Given the description of an element on the screen output the (x, y) to click on. 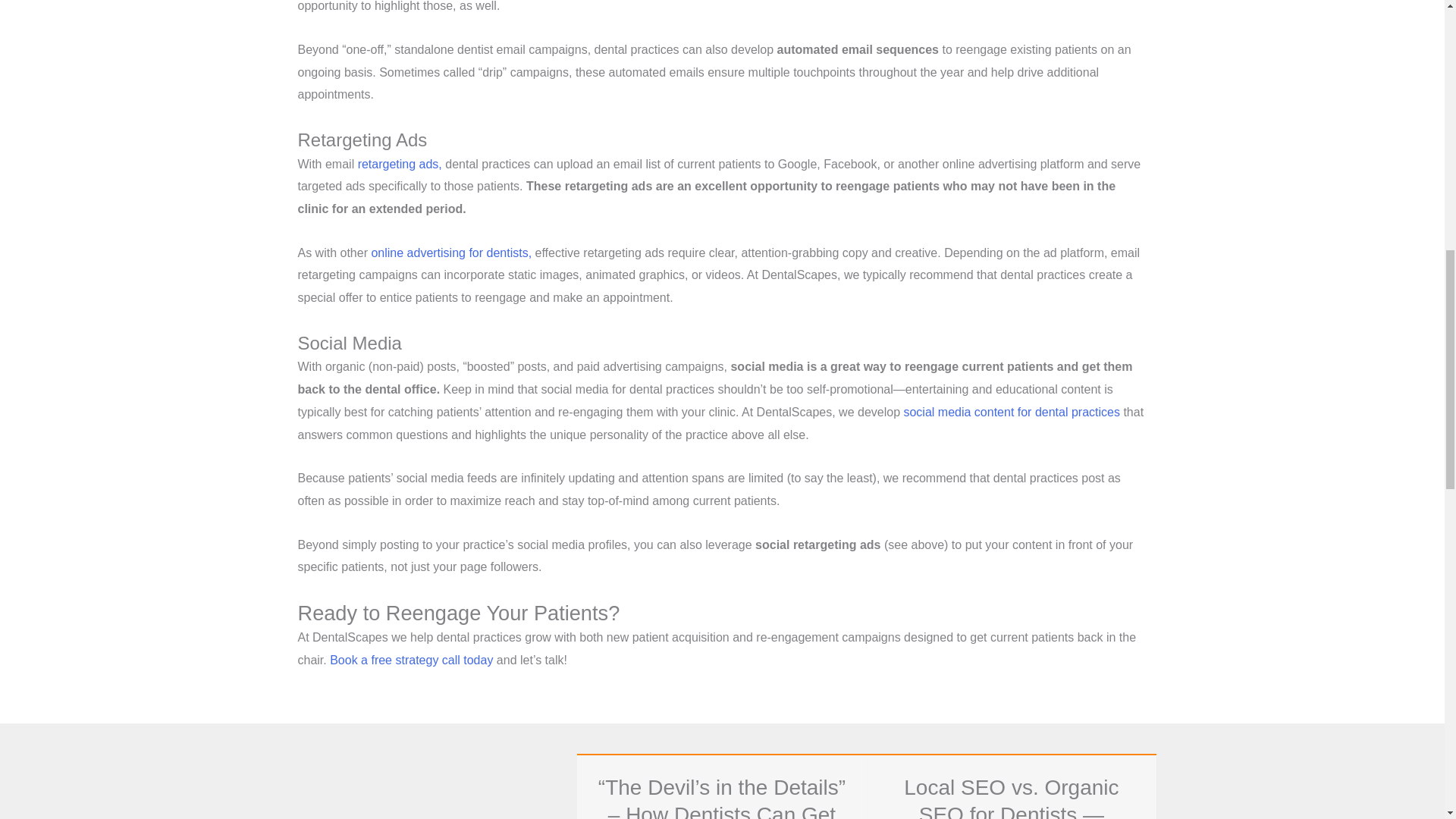
retargeting ads, (400, 164)
social media content for dental practices (1010, 411)
Book a free strategy call today (411, 659)
online advertising for dentists, (451, 252)
